Given the description of an element on the screen output the (x, y) to click on. 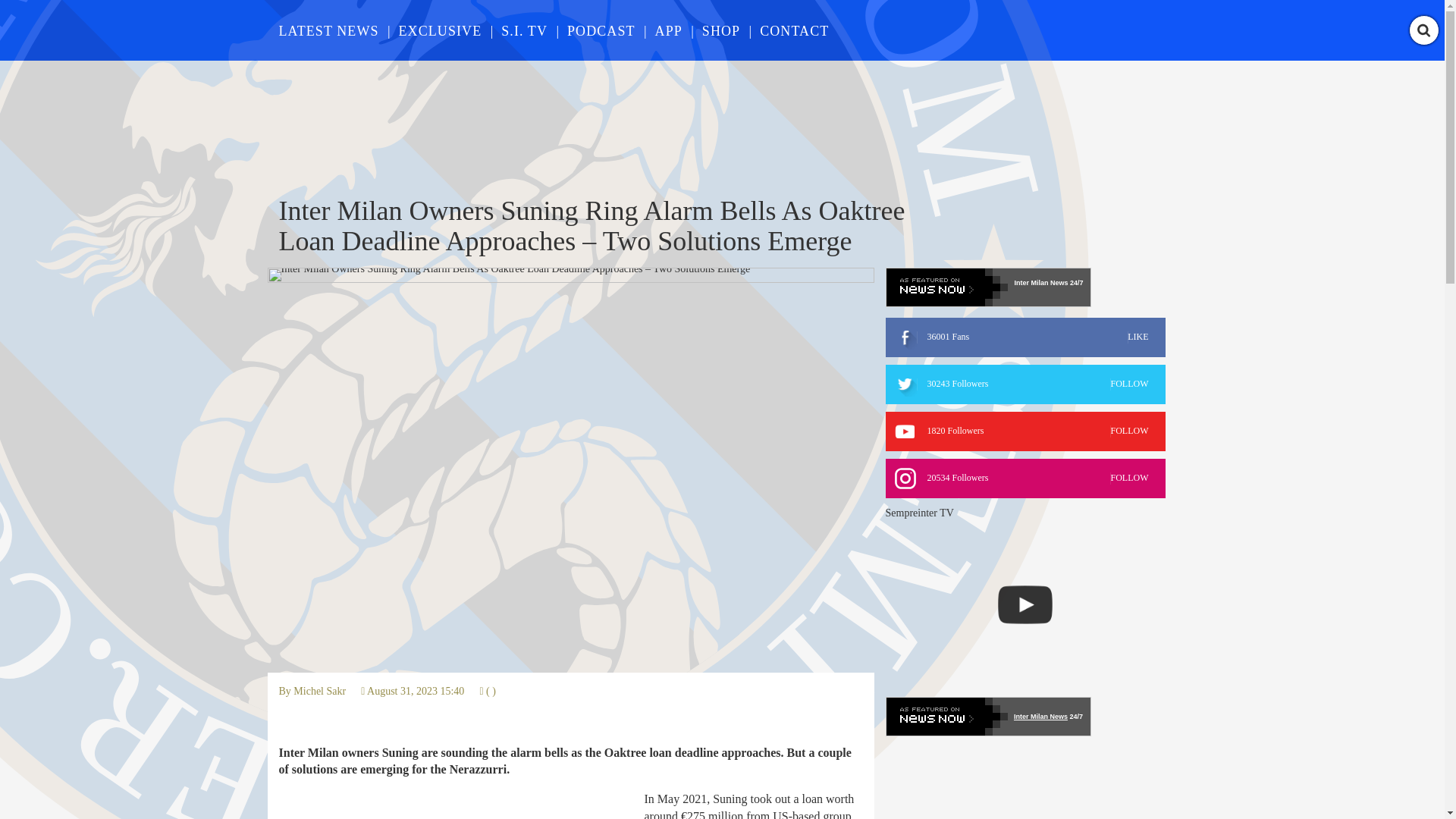
Inter Milan News (1040, 282)
LATEST NEWS (328, 30)
S.I. TV (523, 30)
Michel Sakr (320, 690)
SHOP (720, 30)
Click here for more Inter Milan News from NewsNow (987, 716)
View more articles by Michel Sakr (1025, 431)
EXCLUSIVE (320, 690)
CONTACT (439, 30)
